Given the description of an element on the screen output the (x, y) to click on. 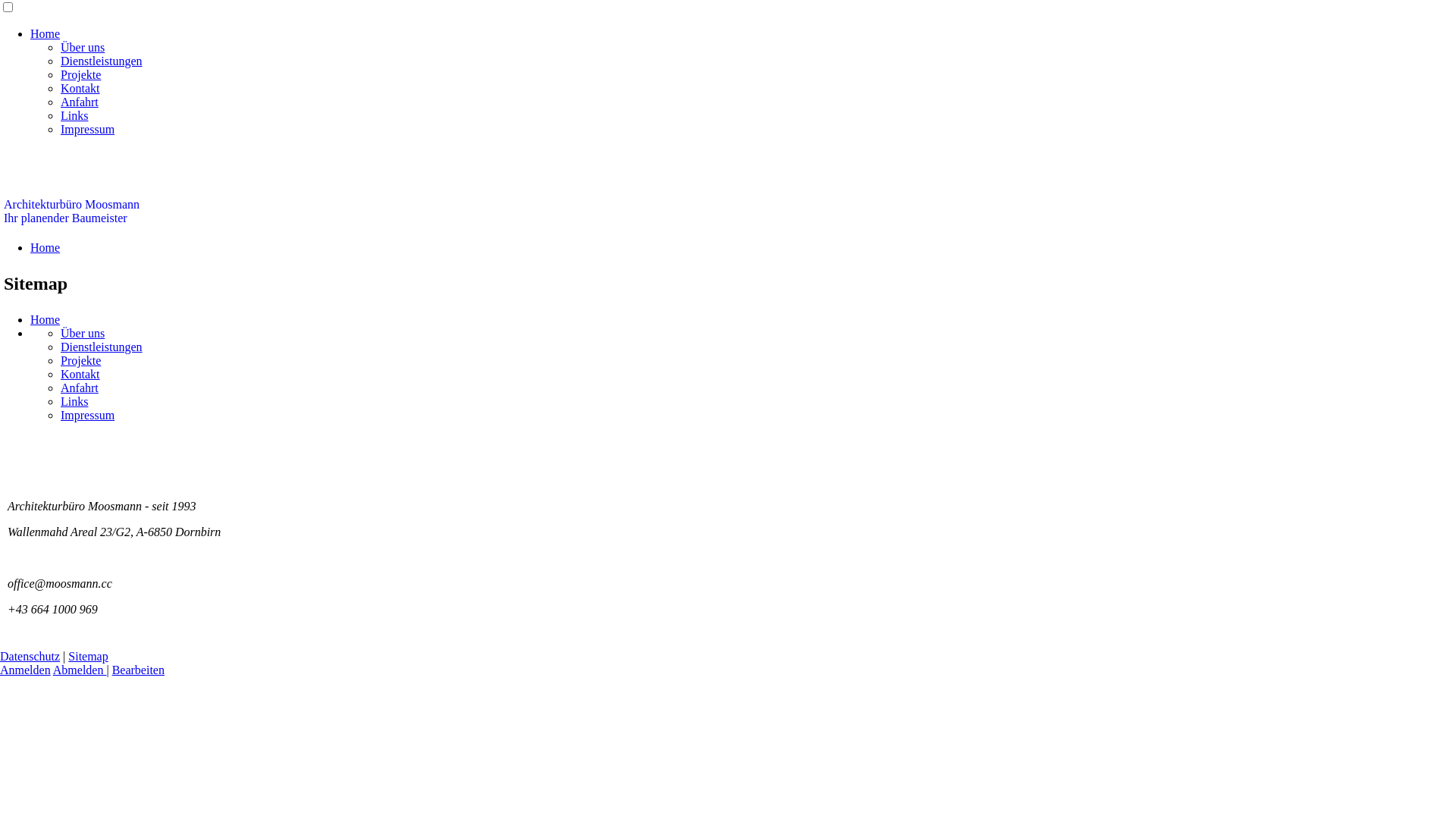
Kontakt Element type: text (80, 87)
Links Element type: text (73, 401)
Impressum Element type: text (87, 128)
Impressum Element type: text (87, 414)
Sitemap Element type: text (87, 655)
Datenschutz Element type: text (29, 655)
Dienstleistungen Element type: text (101, 60)
Kontakt Element type: text (80, 373)
Home Element type: text (44, 319)
Links Element type: text (73, 115)
Projekte Element type: text (80, 74)
Abmelden Element type: text (79, 669)
Home Element type: text (44, 247)
Anfahrt Element type: text (79, 101)
Anfahrt Element type: text (79, 387)
Projekte Element type: text (80, 360)
Anmelden Element type: text (25, 669)
Bearbeiten Element type: text (138, 669)
Dienstleistungen Element type: text (101, 346)
Home Element type: text (44, 33)
